Given the description of an element on the screen output the (x, y) to click on. 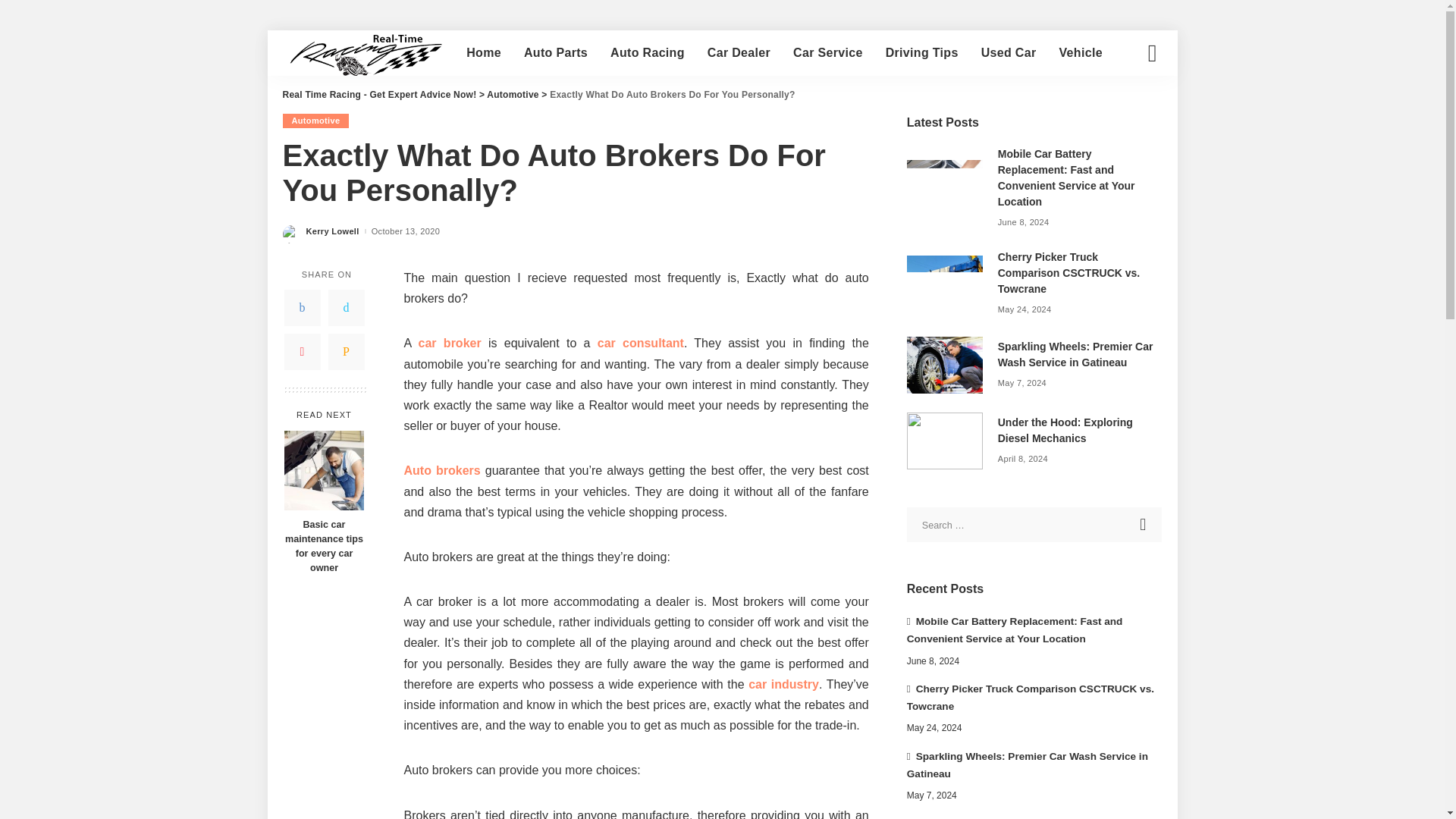
car broker (450, 342)
Real Time Racing - Get Expert Advice Now! (379, 94)
Vehicle (1079, 53)
Pinterest (301, 351)
Basic car maintenance tips for every car owner (323, 546)
Automotive (512, 94)
Auto Racing (646, 53)
car industry (783, 684)
Auto Parts (555, 53)
Search (1140, 106)
Car Dealer (738, 53)
Basic car maintenance tips for every car owner (323, 546)
Driving Tips (922, 53)
Go to Real Time Racing - Get Expert Advice Now!. (379, 94)
Home (483, 53)
